Given the description of an element on the screen output the (x, y) to click on. 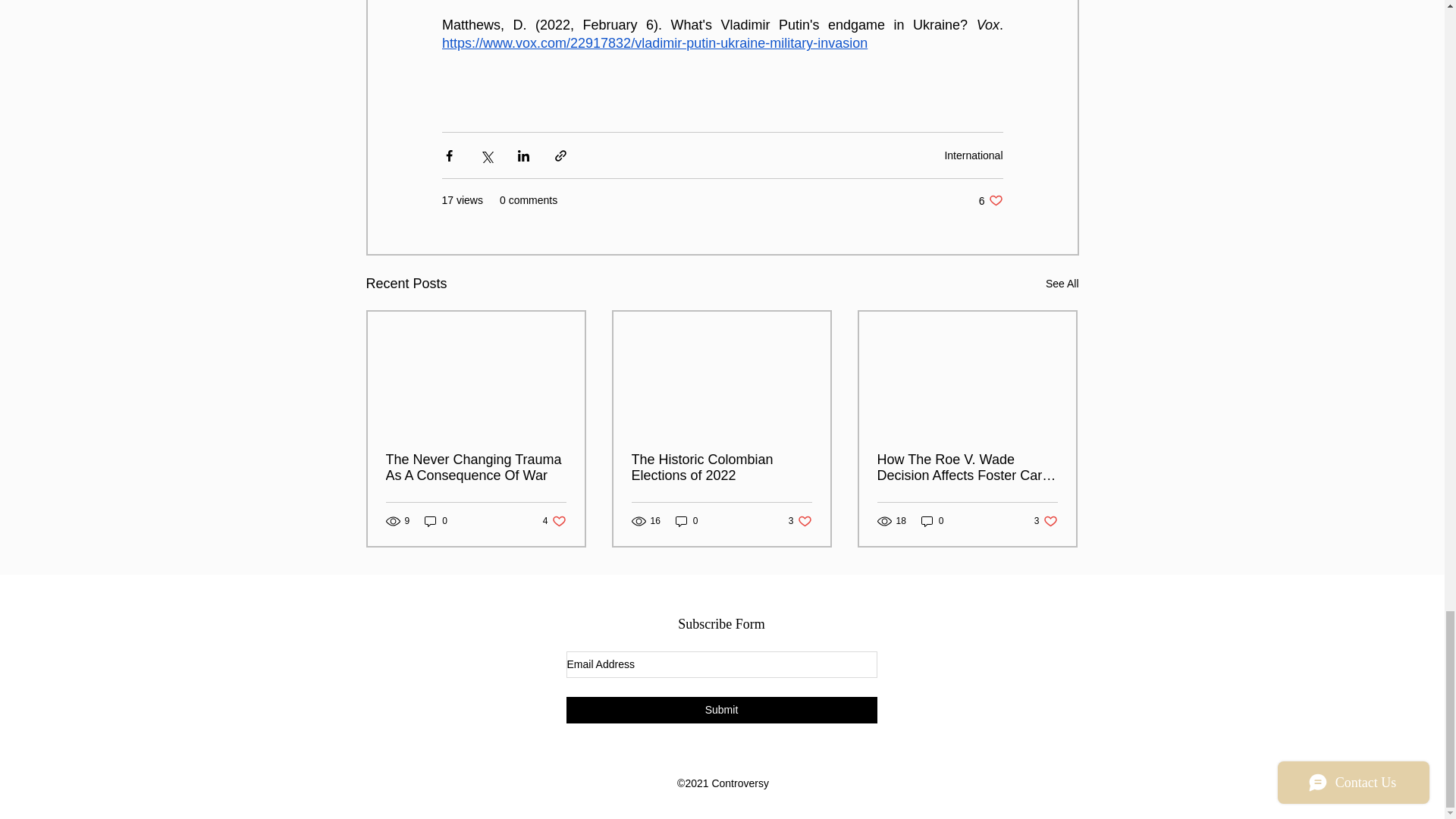
International (973, 155)
The Historic Colombian Elections of 2022 (720, 468)
The Never Changing Trauma As A Consequence Of War (1045, 521)
See All (990, 200)
0 (475, 468)
0 (1061, 283)
